Given the description of an element on the screen output the (x, y) to click on. 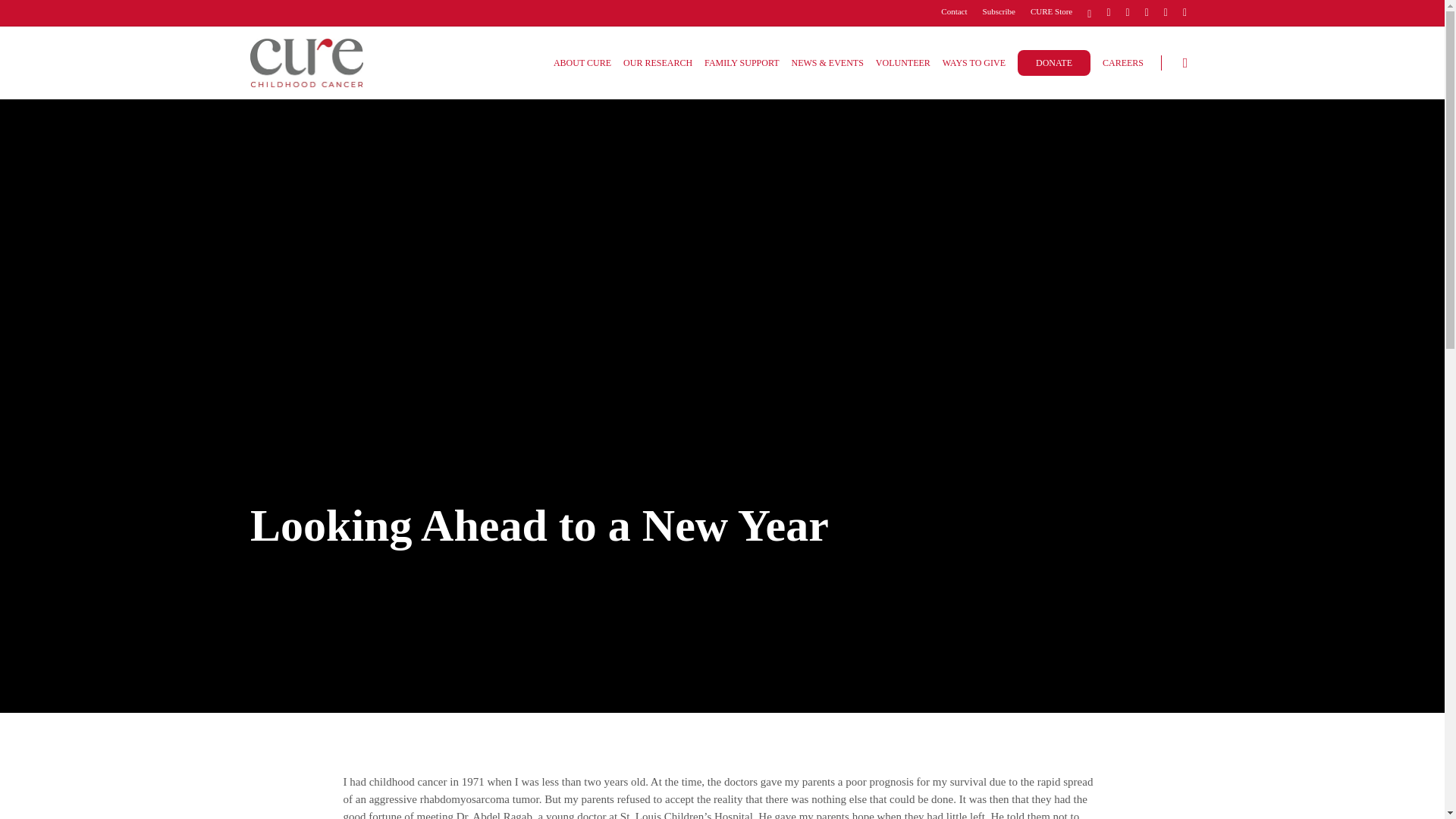
CURE Store (1051, 11)
Contact (953, 11)
ABOUT CURE (582, 62)
OUR RESEARCH (658, 62)
Subscribe (999, 11)
